Given the description of an element on the screen output the (x, y) to click on. 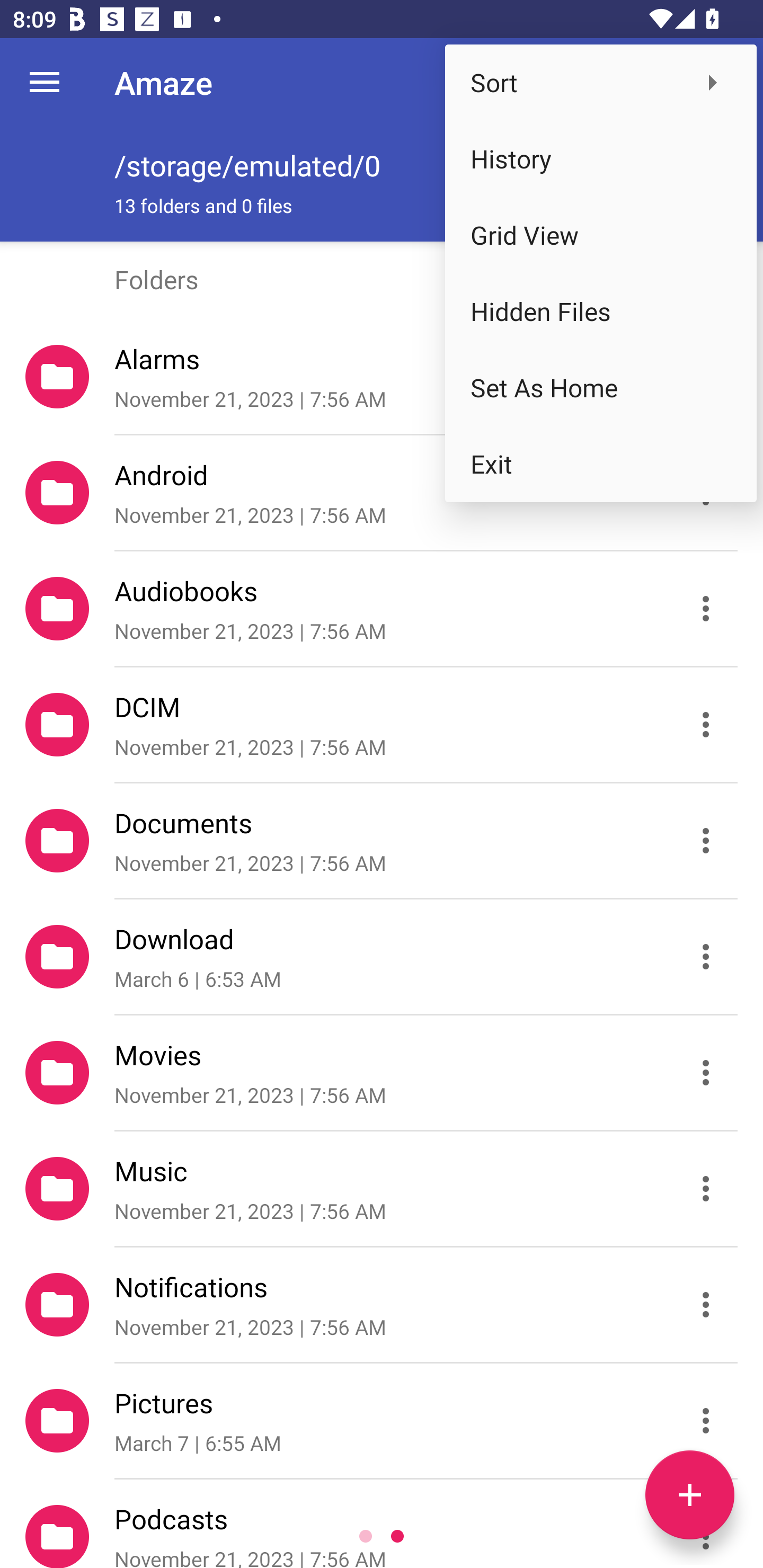
Sort (600, 81)
History (600, 158)
Grid View (600, 234)
Hidden Files (600, 310)
Set As Home (600, 387)
Exit (600, 463)
